Given the description of an element on the screen output the (x, y) to click on. 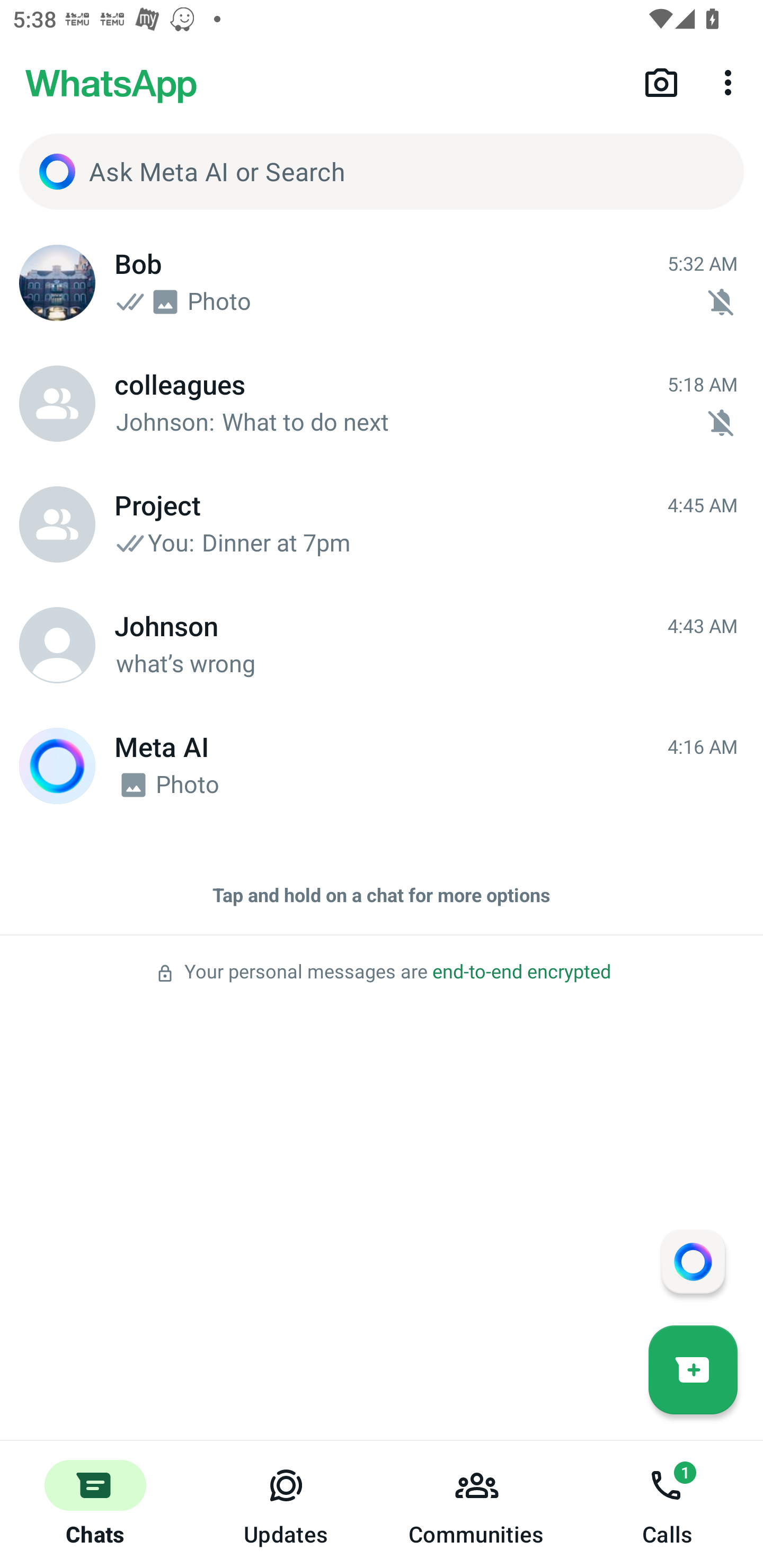
Camera (661, 81)
More options (731, 81)
Bob Bob 5:32 AM 5:32 AM Photo Mute notifications (381, 282)
Bob (57, 282)
colleagues (57, 403)
Project (57, 524)
Johnson Johnson 4:43 AM 4:43 AM what’s wrong (381, 644)
Johnson (57, 644)
Meta AI Meta AI 4:16 AM 4:16 AM Photo (381, 765)
Meta AI (57, 765)
end-to-end encrypted (521, 972)
Message your assistant (692, 1261)
New chat (692, 1369)
Updates (285, 1504)
Communities (476, 1504)
Calls, 1 new notification Calls (667, 1504)
